Given the description of an element on the screen output the (x, y) to click on. 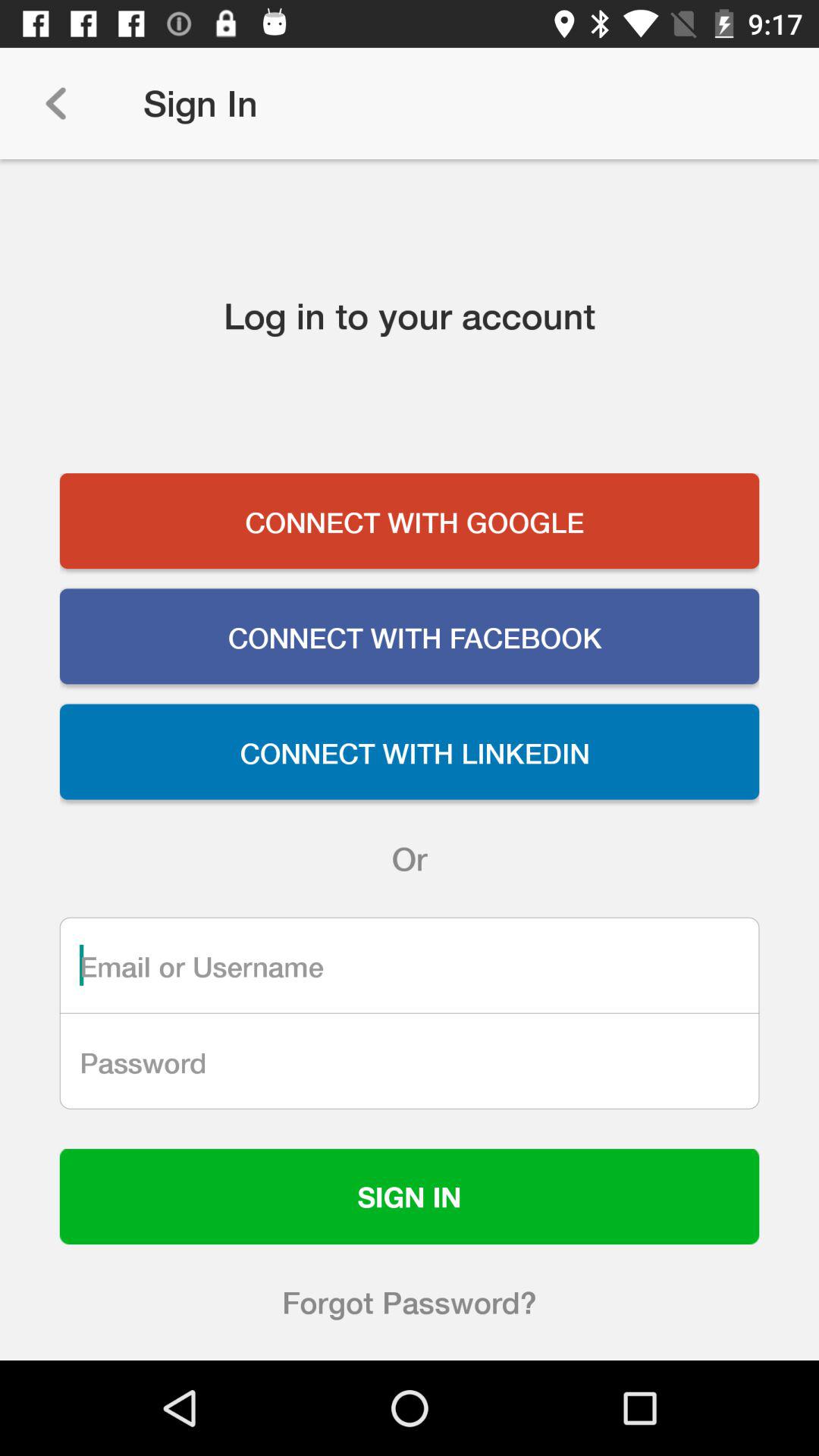
launch the icon above the sign in icon (409, 1061)
